Given the description of an element on the screen output the (x, y) to click on. 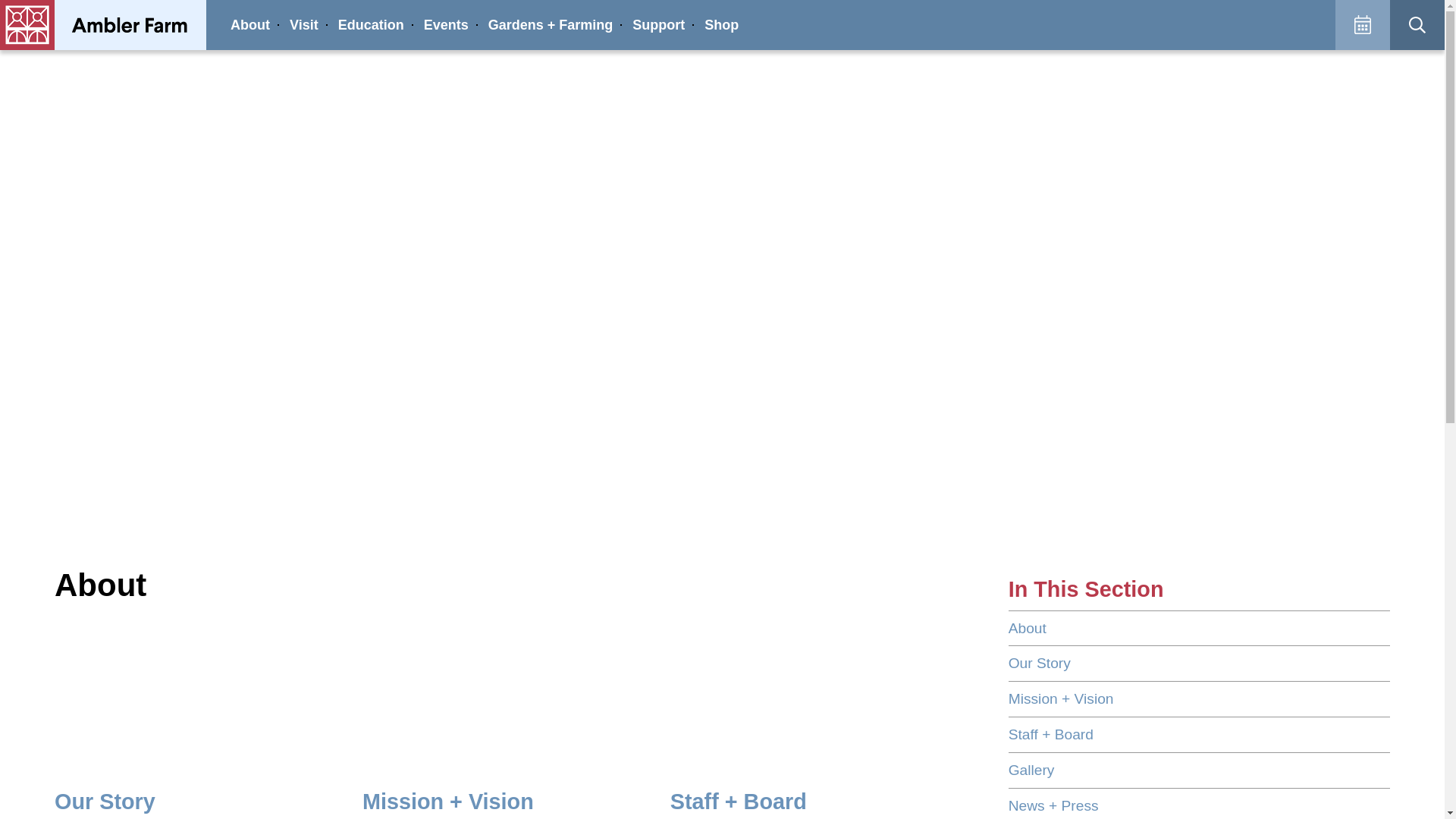
Education (371, 24)
About (250, 24)
Visit (304, 24)
Events (445, 24)
Support (658, 24)
